Given the description of an element on the screen output the (x, y) to click on. 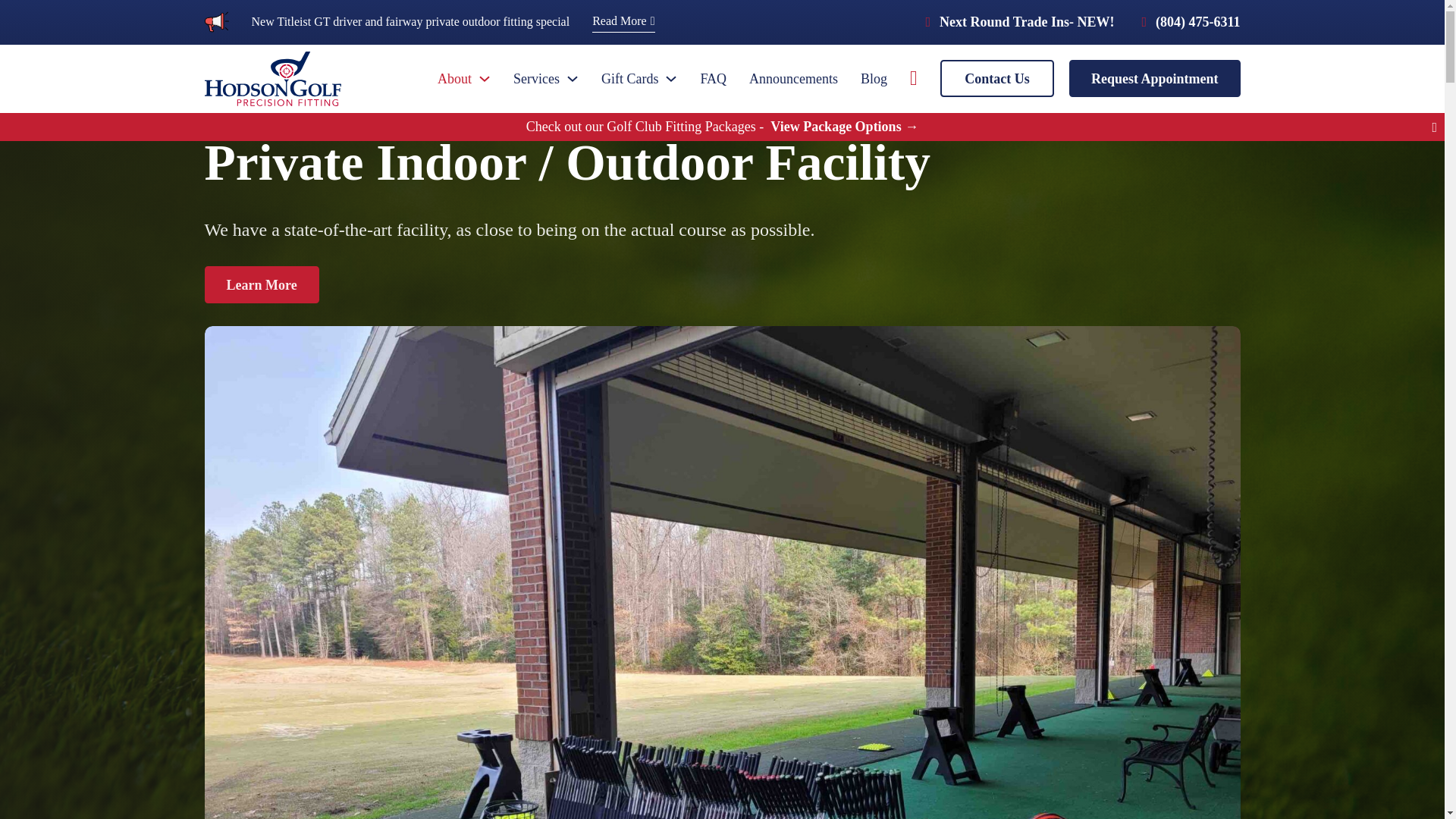
Home Link (272, 78)
